Given the description of an element on the screen output the (x, y) to click on. 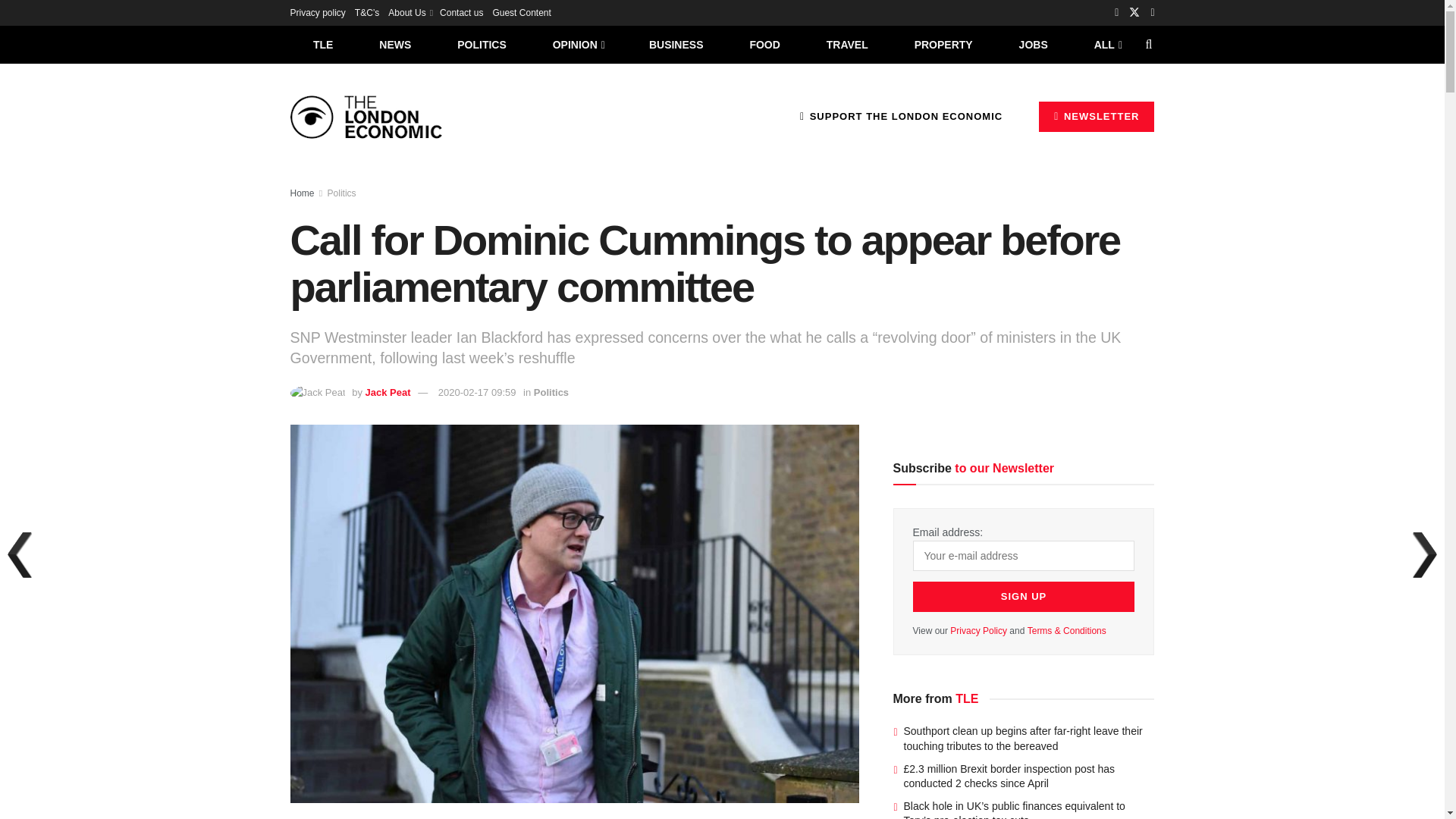
NEWS (394, 44)
POLITICS (481, 44)
Privacy policy (317, 12)
PROPERTY (943, 44)
Guest Content (521, 12)
ALL (1106, 44)
About Us (409, 12)
BUSINESS (676, 44)
TRAVEL (847, 44)
SUPPORT THE LONDON ECONOMIC (900, 116)
NEWSLETTER (1096, 116)
TLE (322, 44)
Contact us (461, 12)
FOOD (764, 44)
OPINION (577, 44)
